Given the description of an element on the screen output the (x, y) to click on. 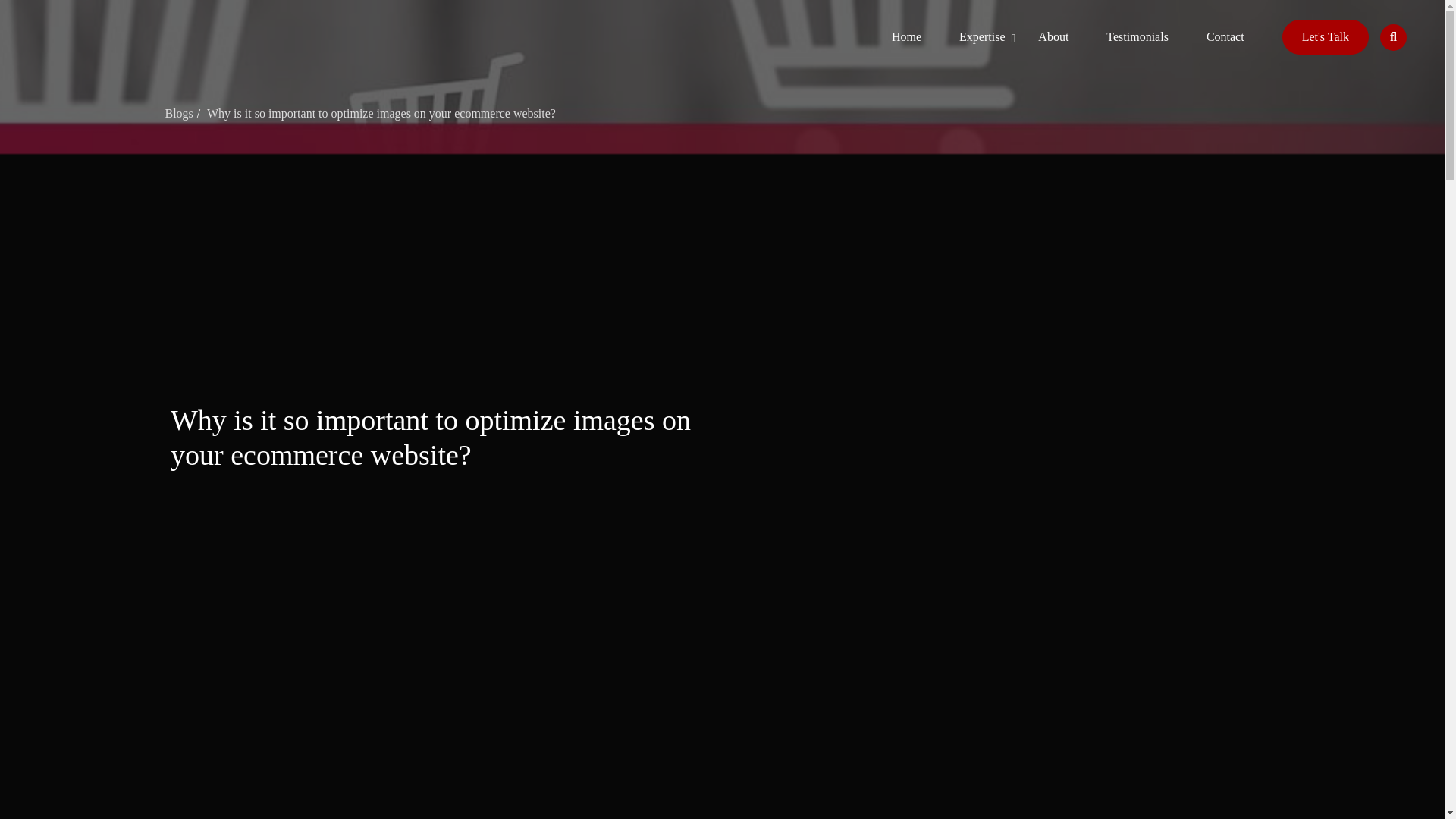
Home (906, 36)
Testimonials (1137, 36)
Contact (1225, 36)
Blogs (185, 113)
Expertise (975, 36)
About (1053, 36)
Let's Talk (1325, 36)
